Given the description of an element on the screen output the (x, y) to click on. 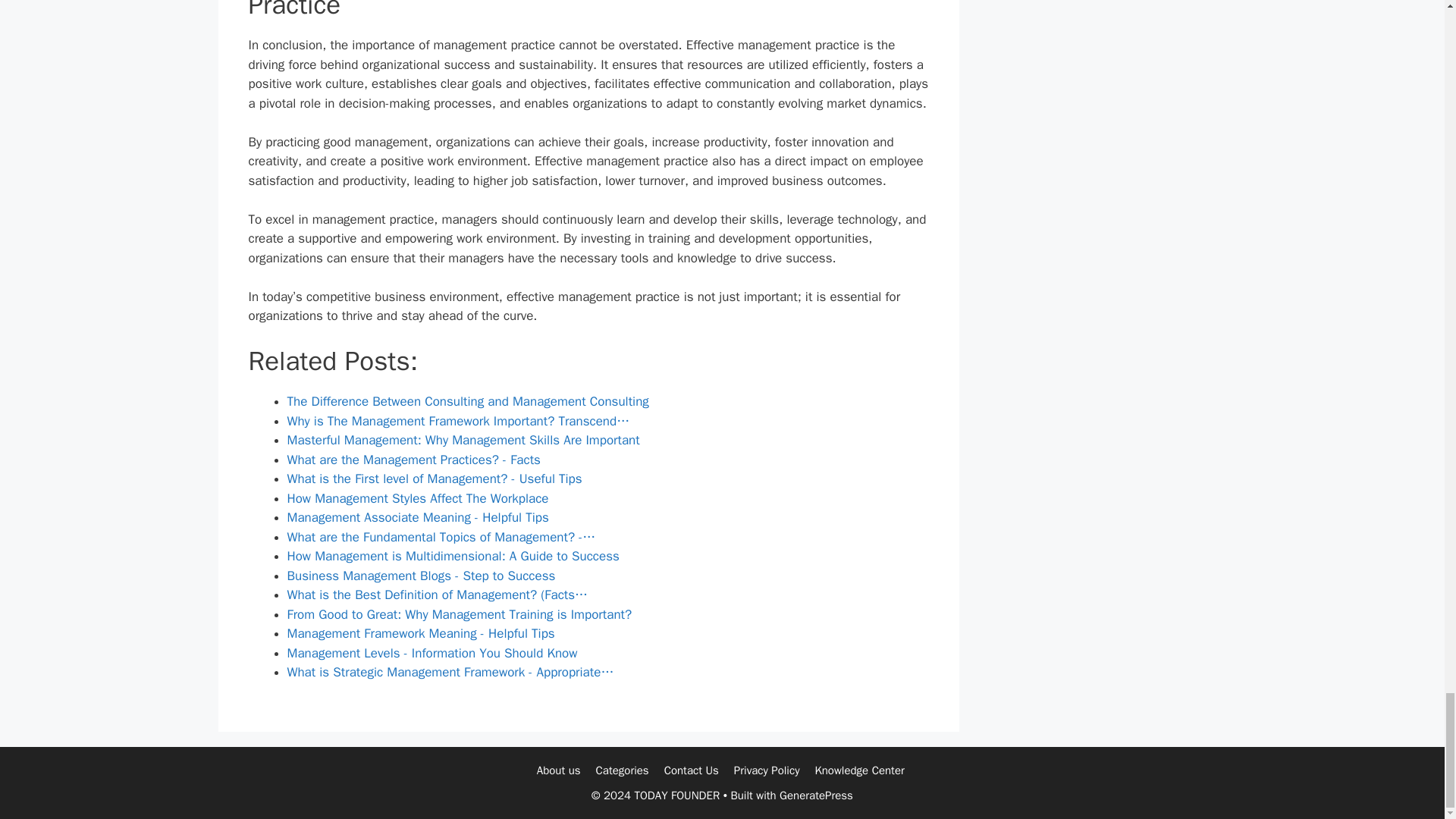
What is the First level of Management? - Useful Tips (433, 478)
Management Levels - Information You Should Know (431, 652)
Management Associate Meaning - Helpful Tips (417, 517)
How Management Styles Affect The Workplace (417, 498)
Business Management Blogs - Step to Success (420, 575)
From Good to Great: Why Management Training is Important? (458, 614)
How Management is Multidimensional: A Guide to Success (452, 555)
Management Framework Meaning - Helpful Tips (420, 633)
Masterful Management: Why Management Skills Are Important (462, 439)
What are the Management Practices? - Facts (413, 459)
